Given the description of an element on the screen output the (x, y) to click on. 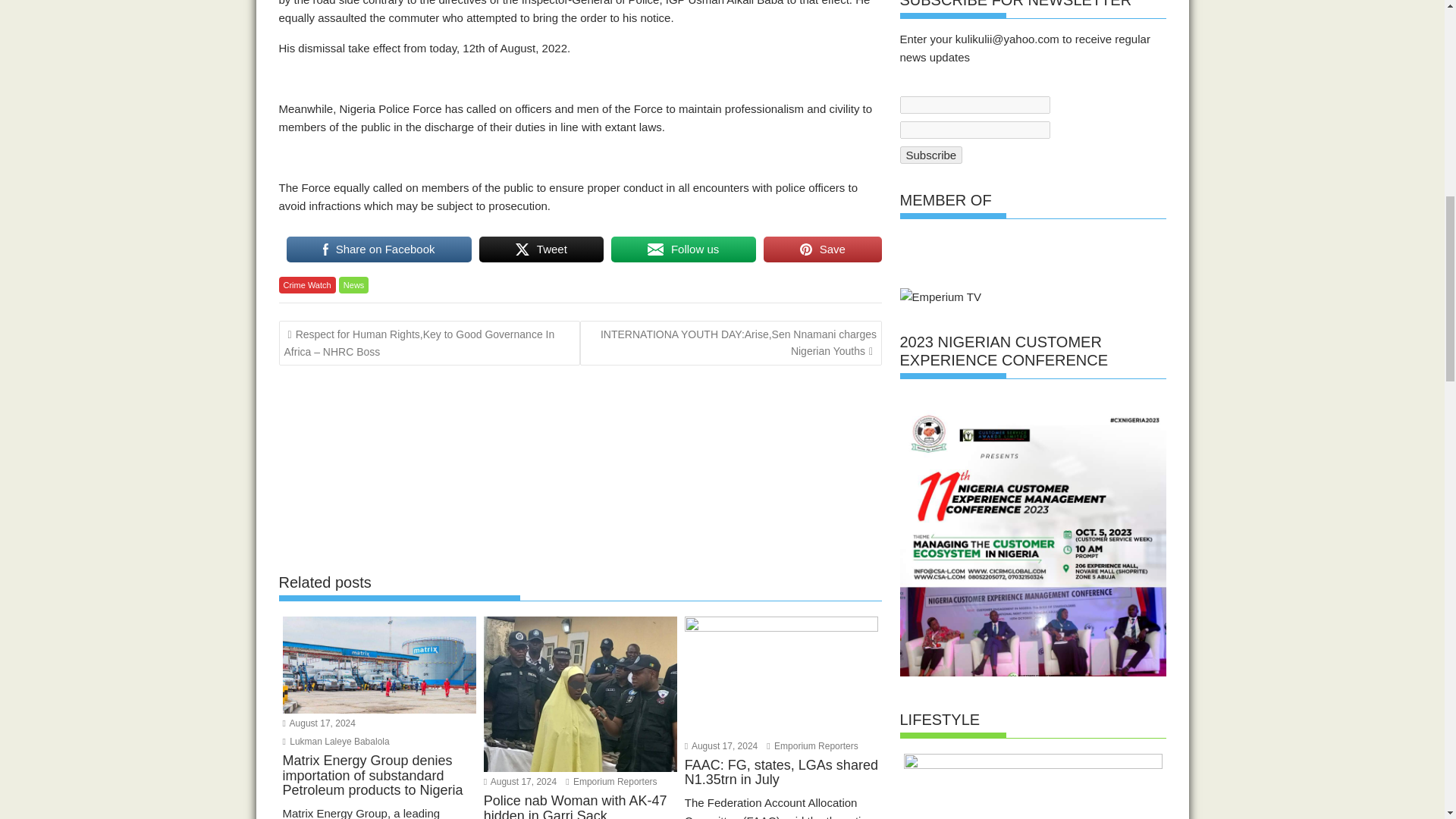
Emporium Reporters (611, 781)
Emporium Reporters (812, 746)
Lukman Laleye Babalola (335, 741)
Subscribe (930, 154)
